Given the description of an element on the screen output the (x, y) to click on. 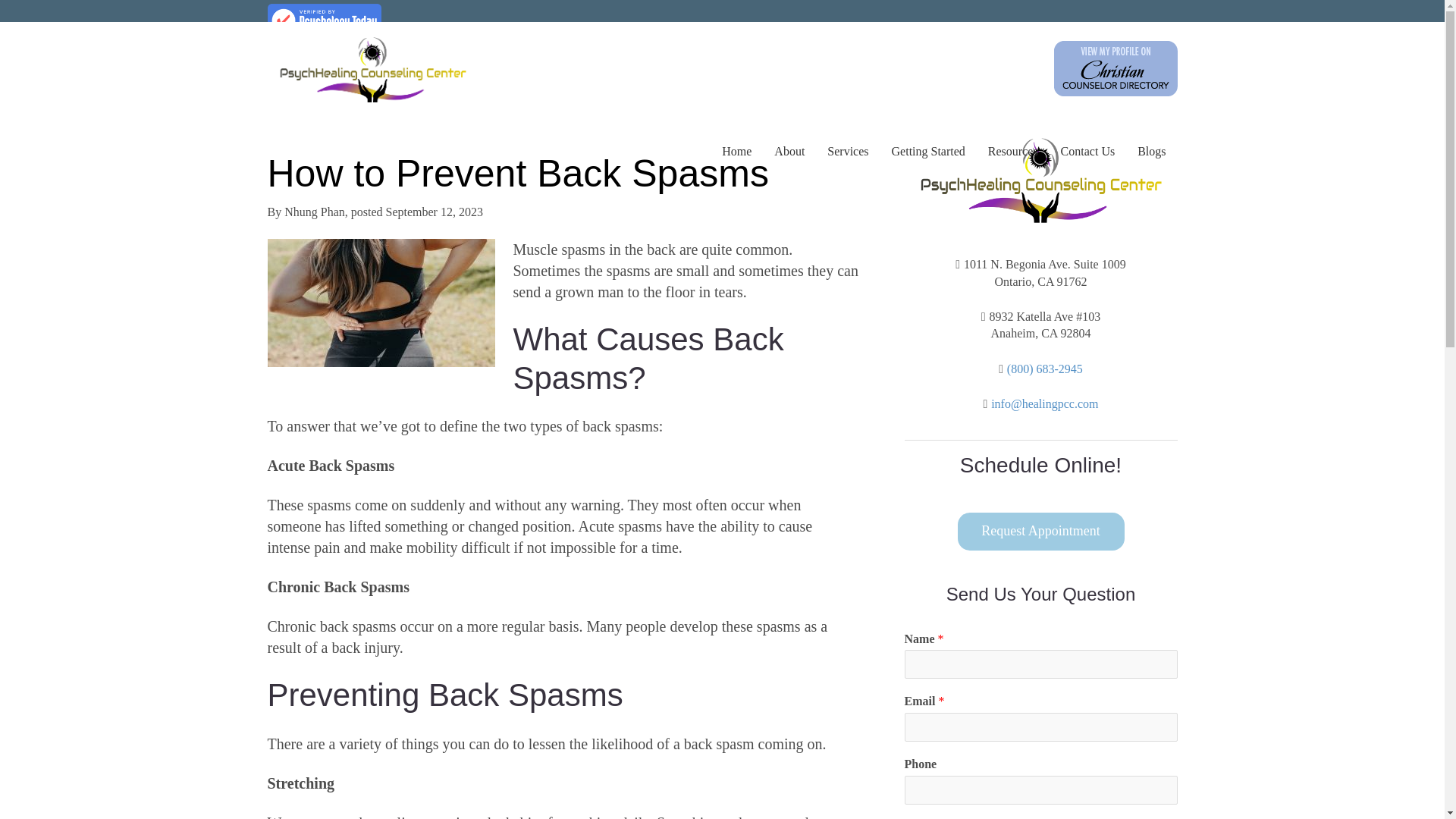
Contact Us (1087, 151)
Getting Started (928, 151)
Services (847, 151)
Resources (1012, 151)
